Given the description of an element on the screen output the (x, y) to click on. 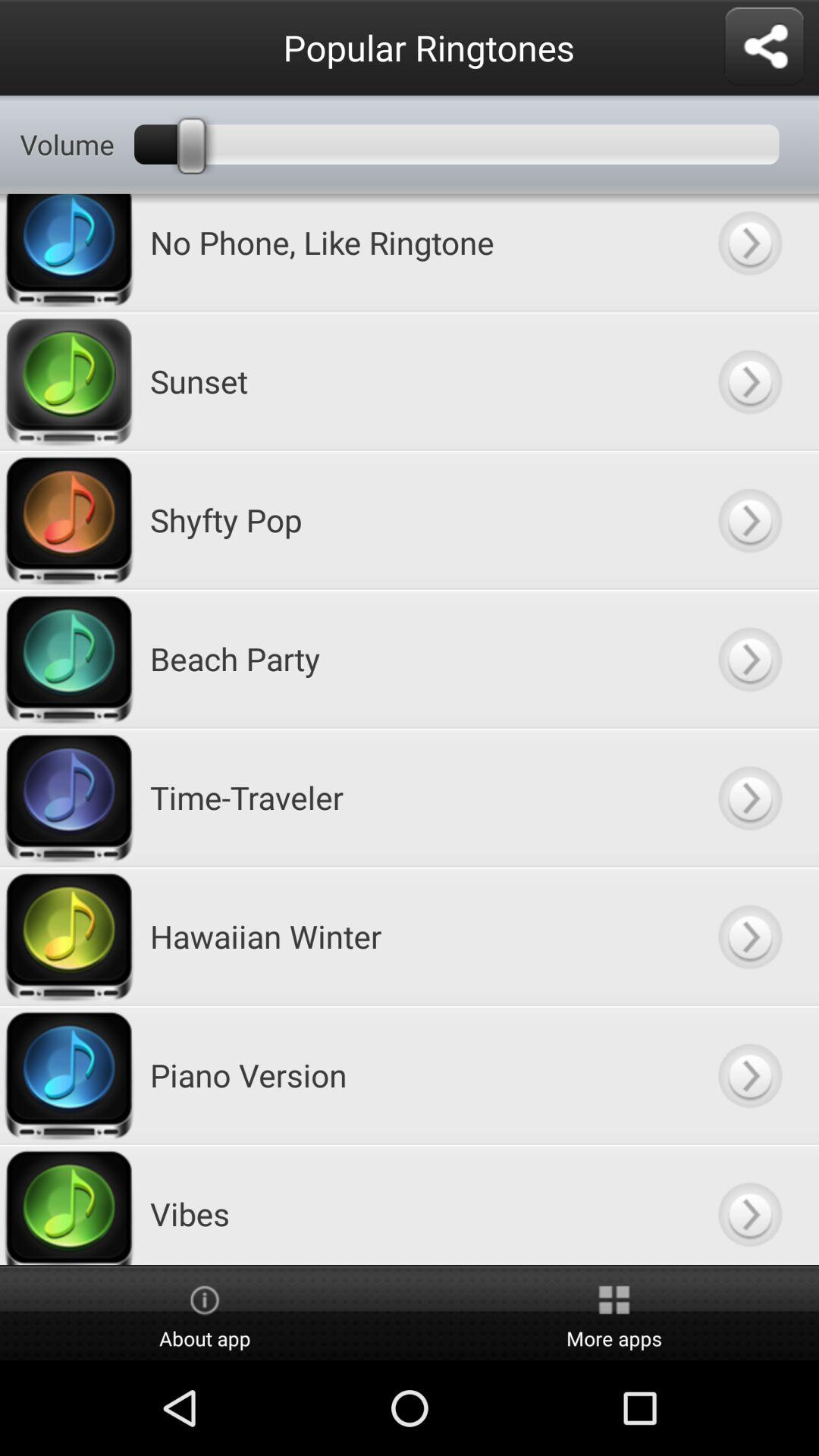
hawaiian winter option (749, 936)
